Given the description of an element on the screen output the (x, y) to click on. 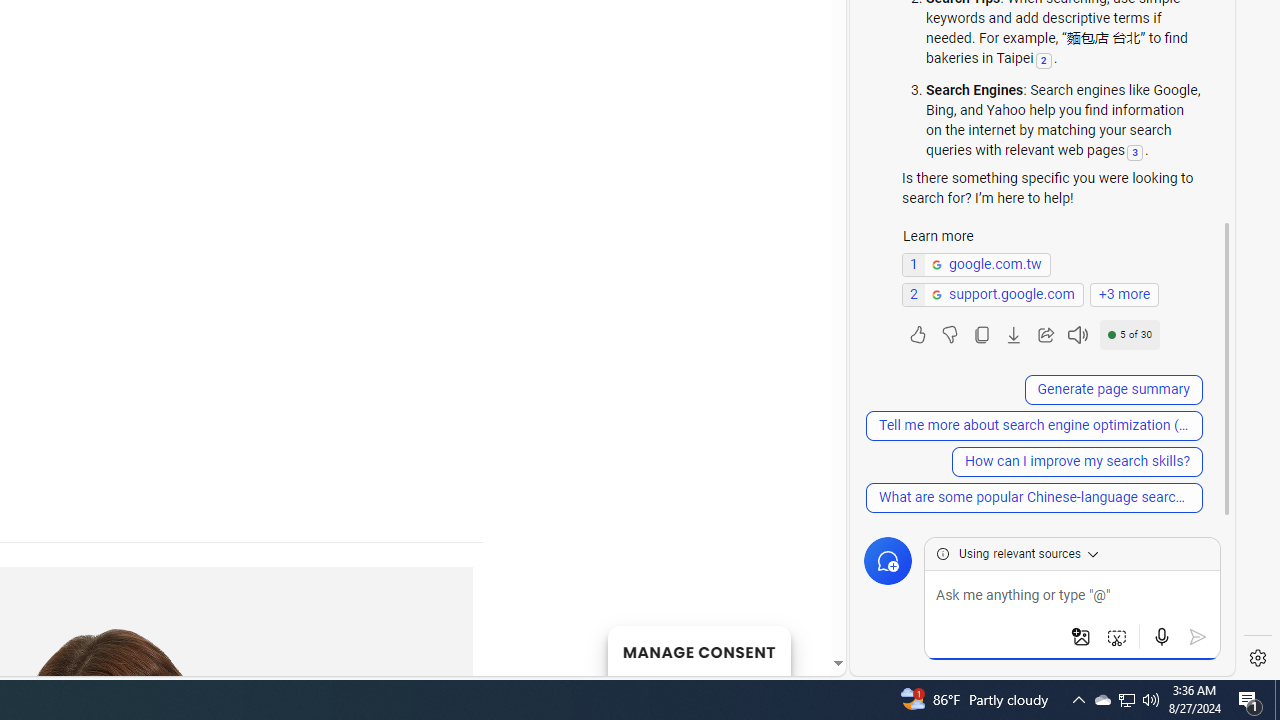
MANAGE CONSENT (698, 650)
